Given the description of an element on the screen output the (x, y) to click on. 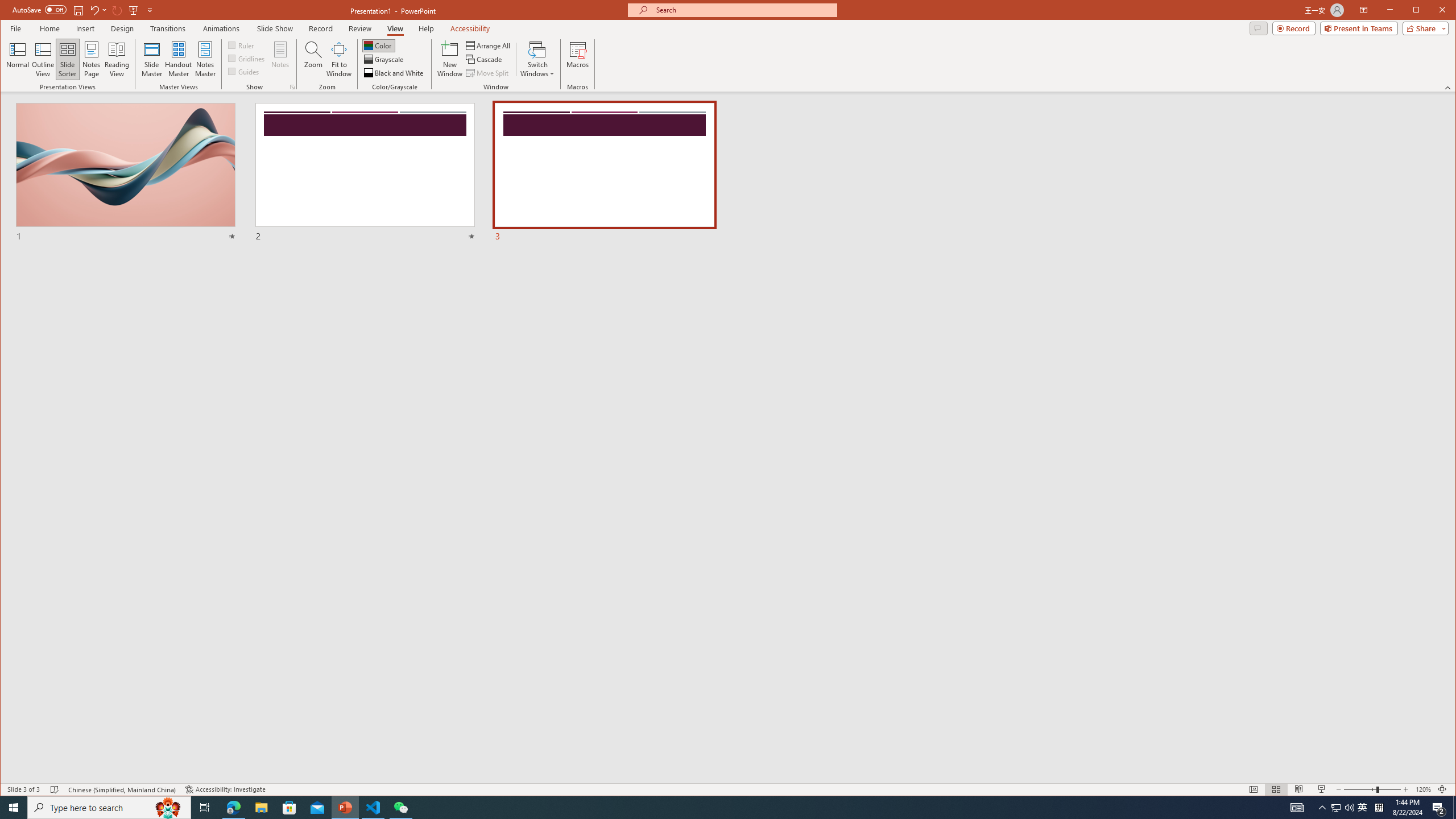
Grid Settings... (292, 86)
Guides (243, 70)
Ruler (241, 44)
Slide Master (151, 59)
